Given the description of an element on the screen output the (x, y) to click on. 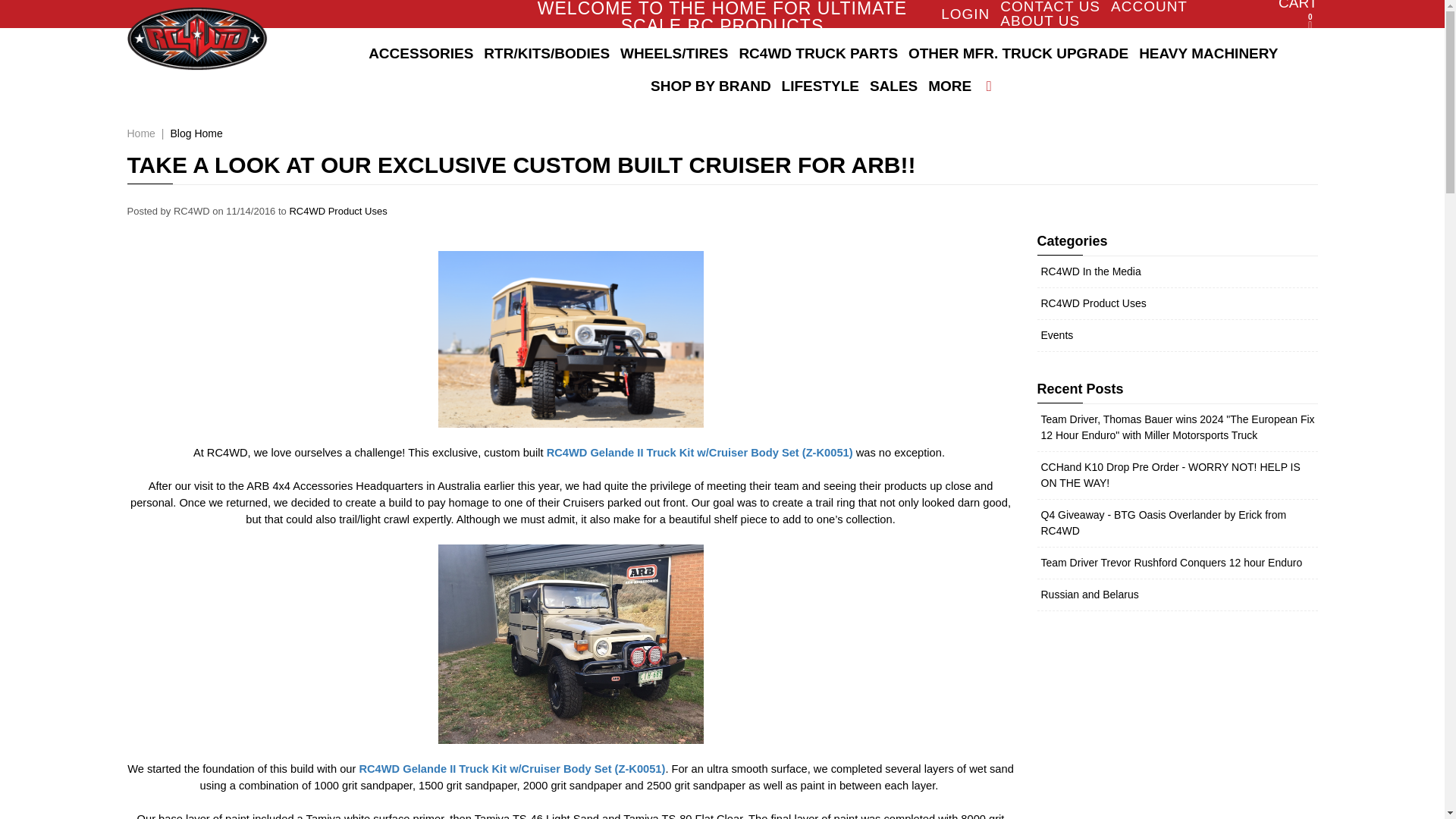
CONTACT US (1050, 7)
RC4WD Store (197, 37)
ABOUT US (1040, 20)
home (197, 37)
ACCESSORIES (1290, 18)
ACCOUNT (421, 53)
LOGIN (1149, 7)
